Given the description of an element on the screen output the (x, y) to click on. 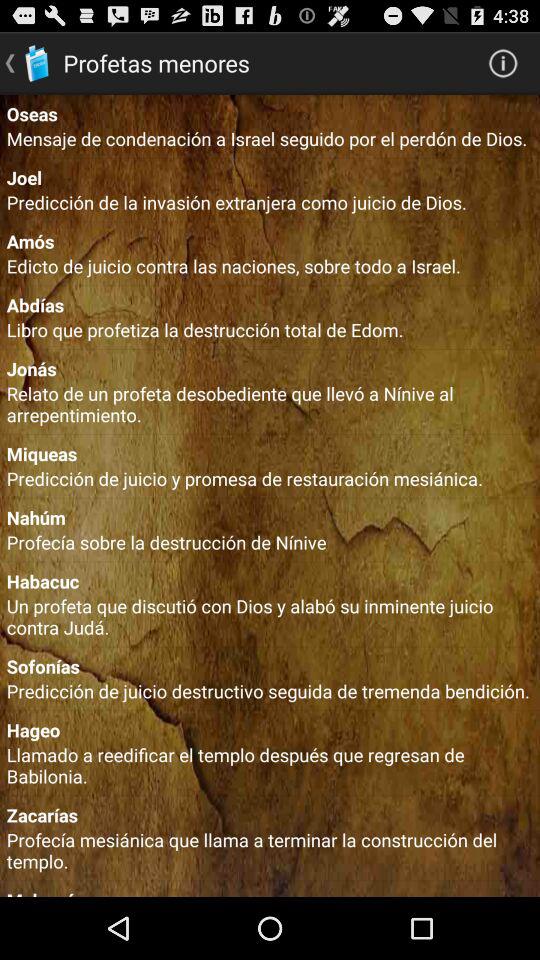
open the edicto de juicio app (269, 265)
